Given the description of an element on the screen output the (x, y) to click on. 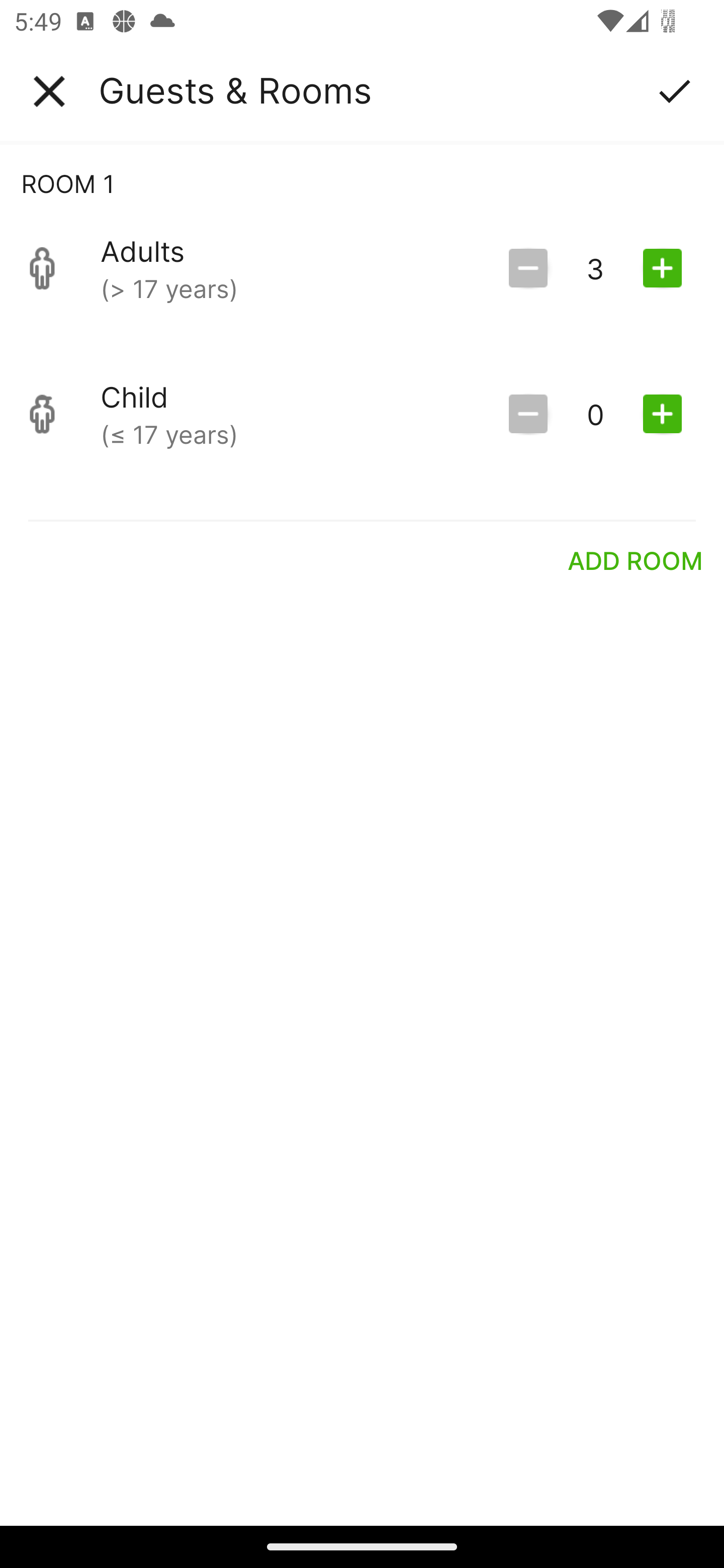
ADD ROOM (635, 560)
